Given the description of an element on the screen output the (x, y) to click on. 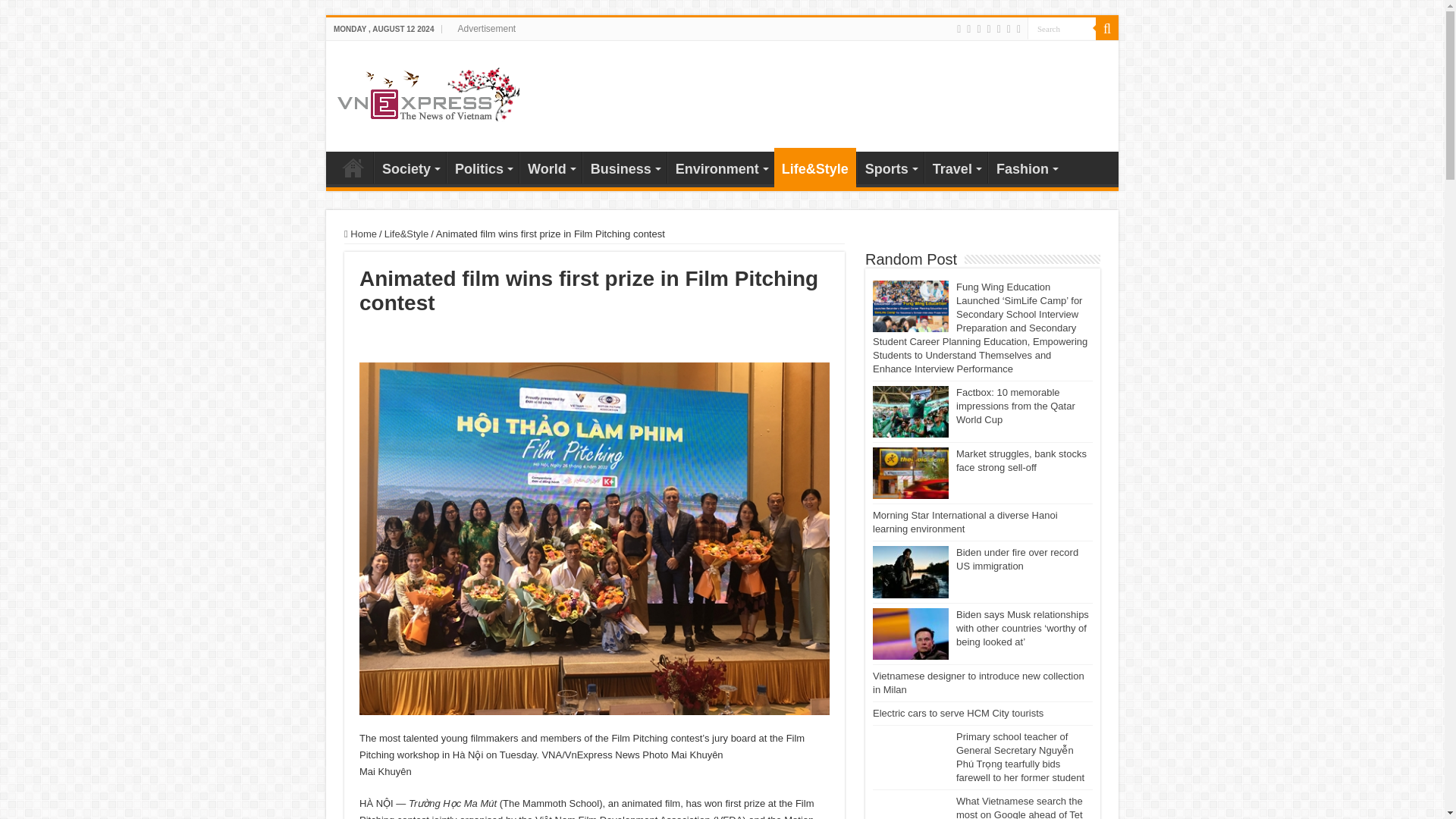
Search (1107, 28)
Society (409, 167)
Search (1061, 28)
Search (1061, 28)
Home (352, 167)
Advertisement (485, 28)
Search (1061, 28)
